Given the description of an element on the screen output the (x, y) to click on. 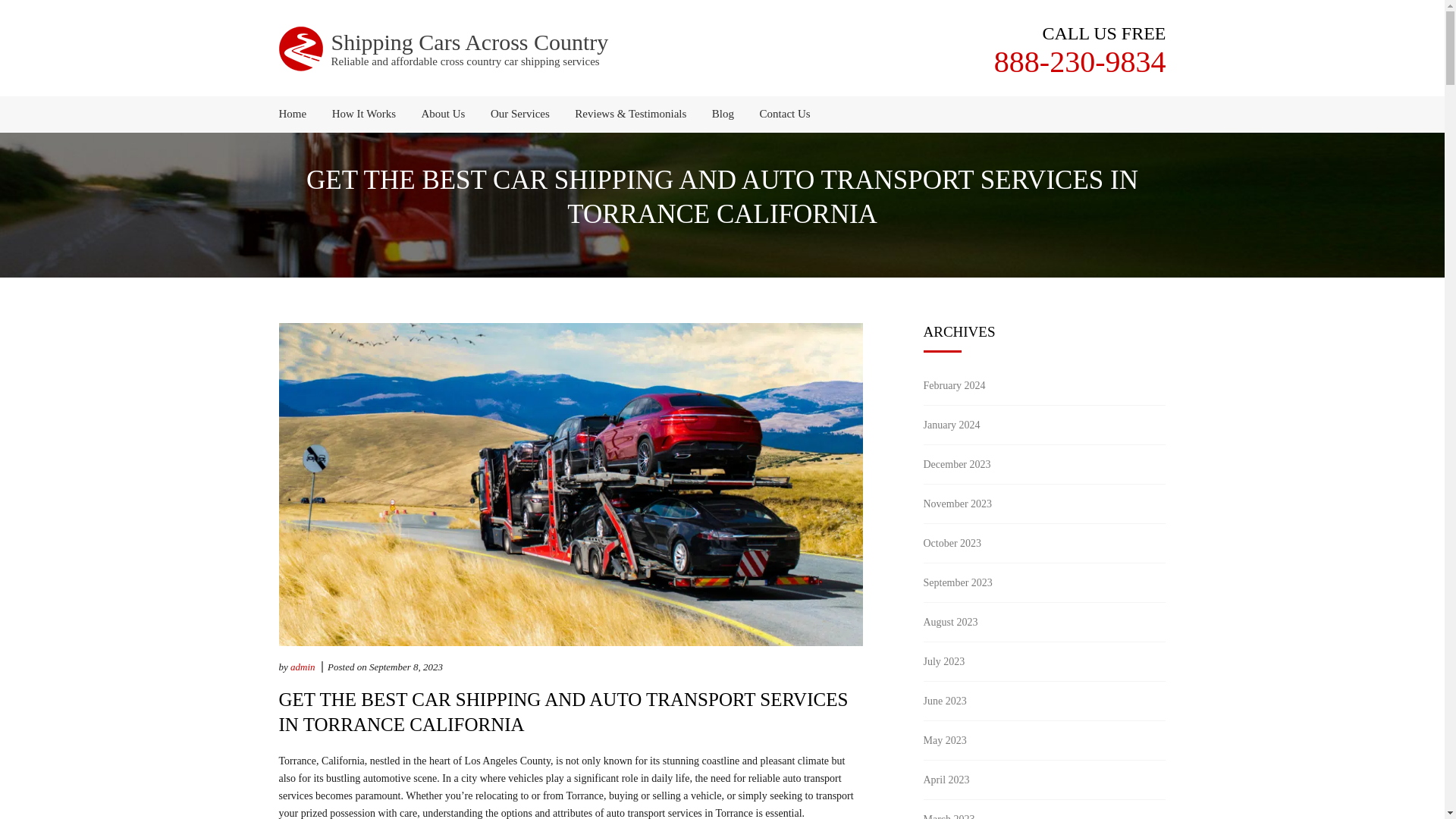
How It Works (363, 114)
Shipping Cars Across Country (469, 42)
Blog (722, 114)
admin (302, 666)
February 2024 (954, 385)
Our Services (519, 114)
Contact Us (779, 114)
Posts by admin (302, 666)
January 2024 (951, 424)
